Given the description of an element on the screen output the (x, y) to click on. 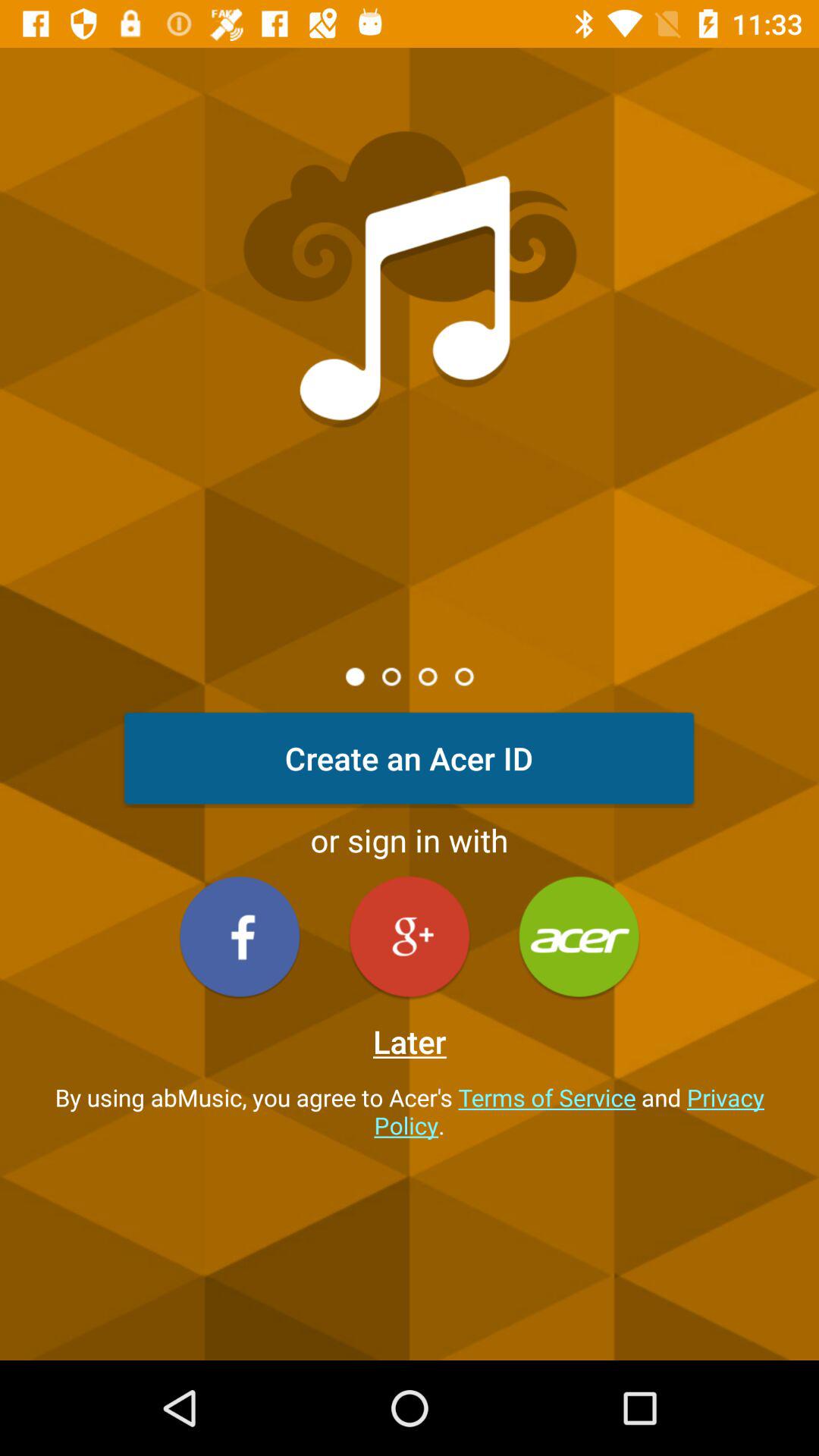
facebook (239, 936)
